Given the description of an element on the screen output the (x, y) to click on. 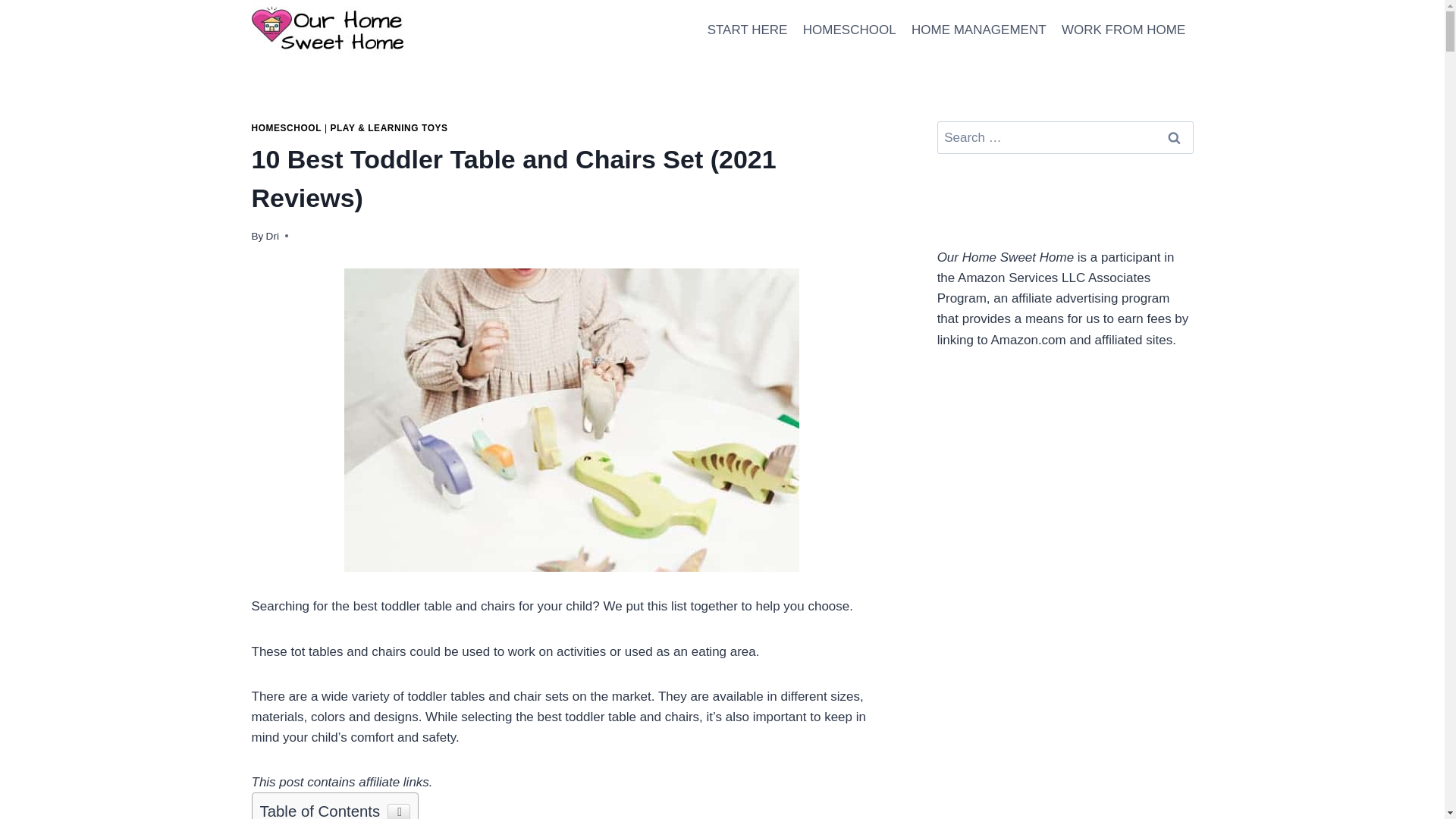
Search (1174, 137)
HOME MANAGEMENT (979, 30)
HOMESCHOOL (286, 127)
HOMESCHOOL (849, 30)
START HERE (746, 30)
WORK FROM HOME (1123, 30)
Dri (272, 235)
Search (1174, 137)
